Given the description of an element on the screen output the (x, y) to click on. 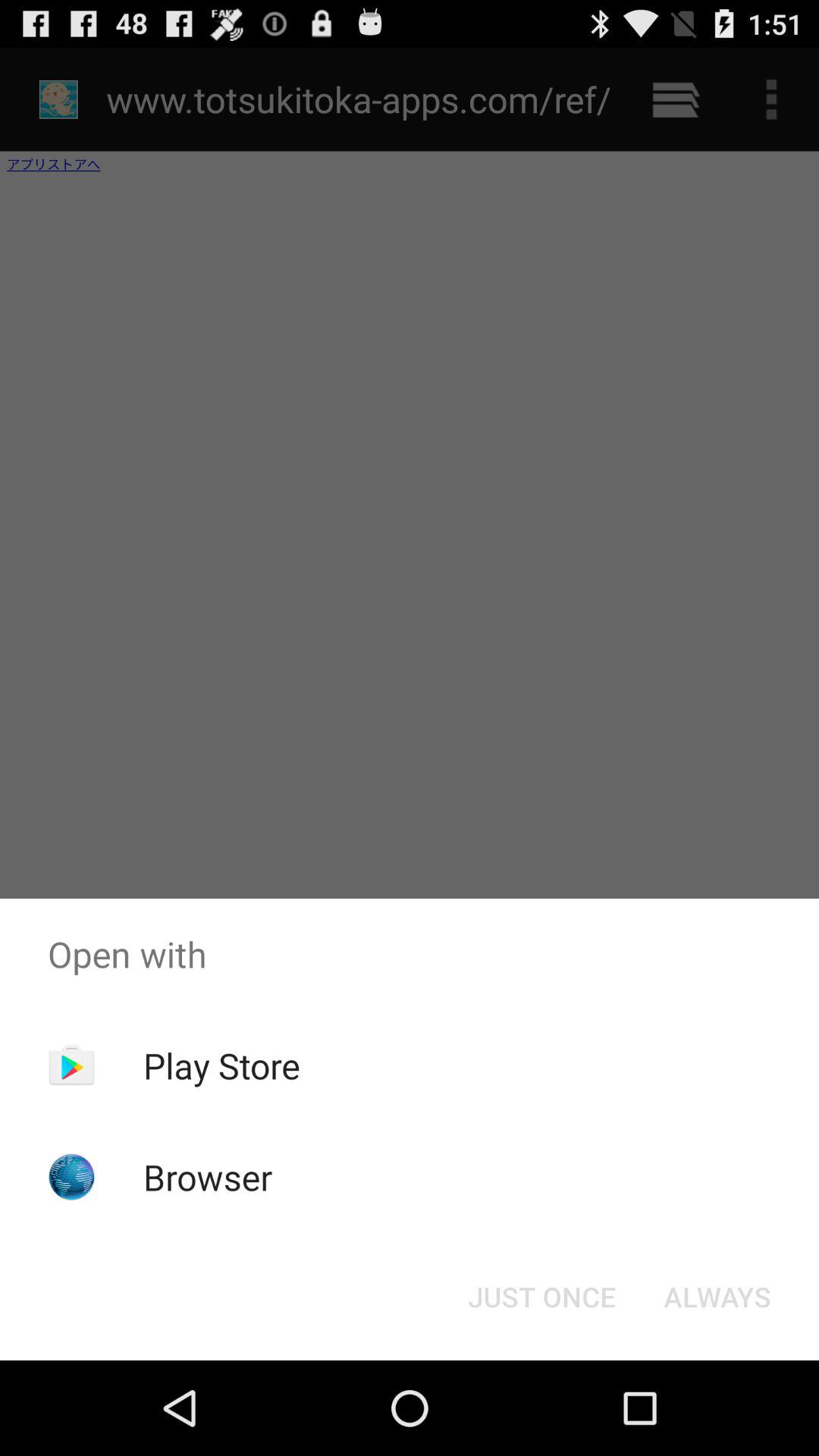
tap the icon at the bottom right corner (717, 1296)
